Given the description of an element on the screen output the (x, y) to click on. 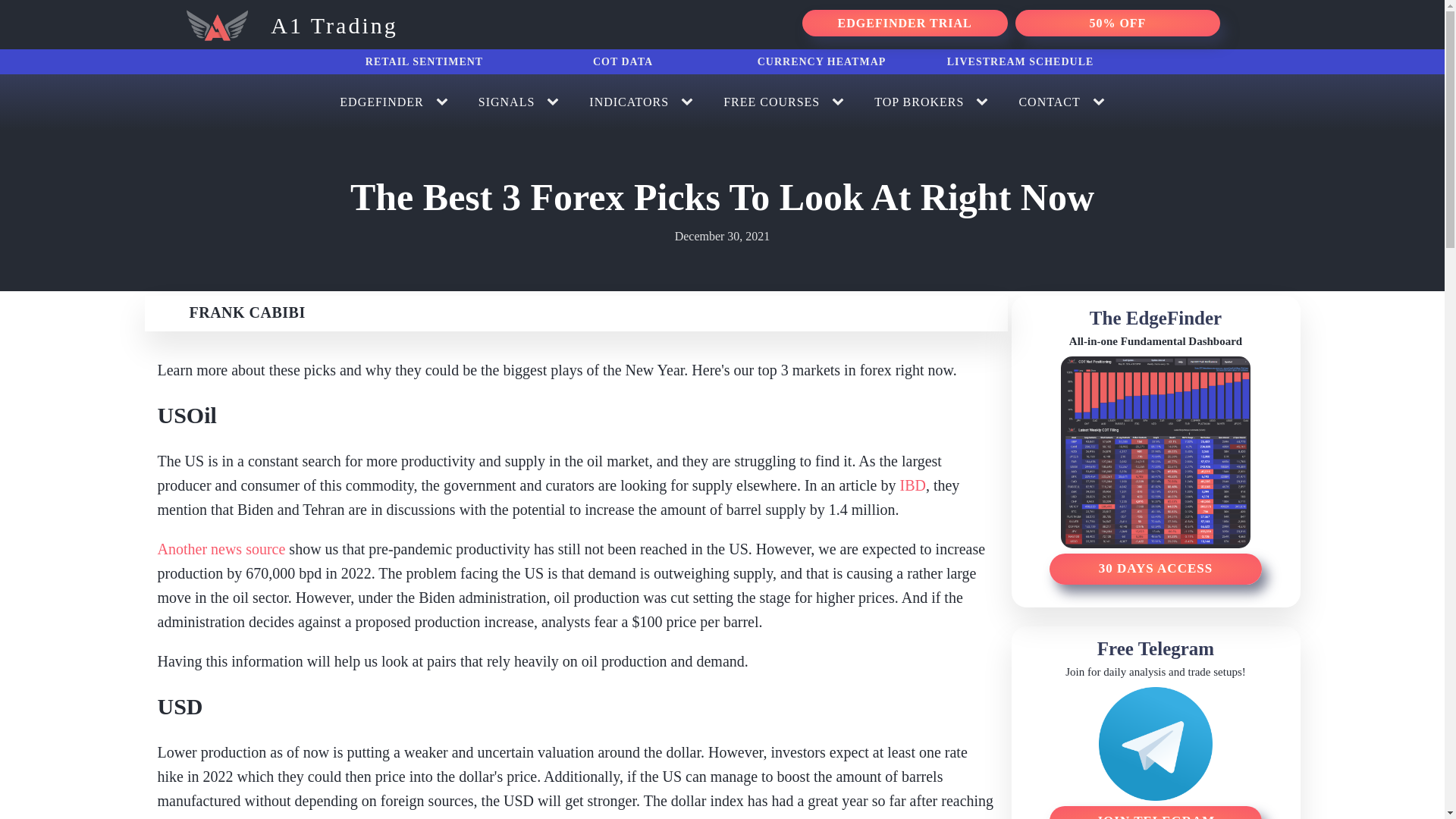
RETAIL SENTIMENT (423, 62)
EDGEFINDER (381, 101)
LIVESTREAM SCHEDULE (1019, 62)
CURRENCY HEATMAP (821, 62)
A1 Trading (289, 20)
EDGEFINDER TRIAL (904, 22)
COT DATA (622, 62)
SIGNALS (506, 101)
